Given the description of an element on the screen output the (x, y) to click on. 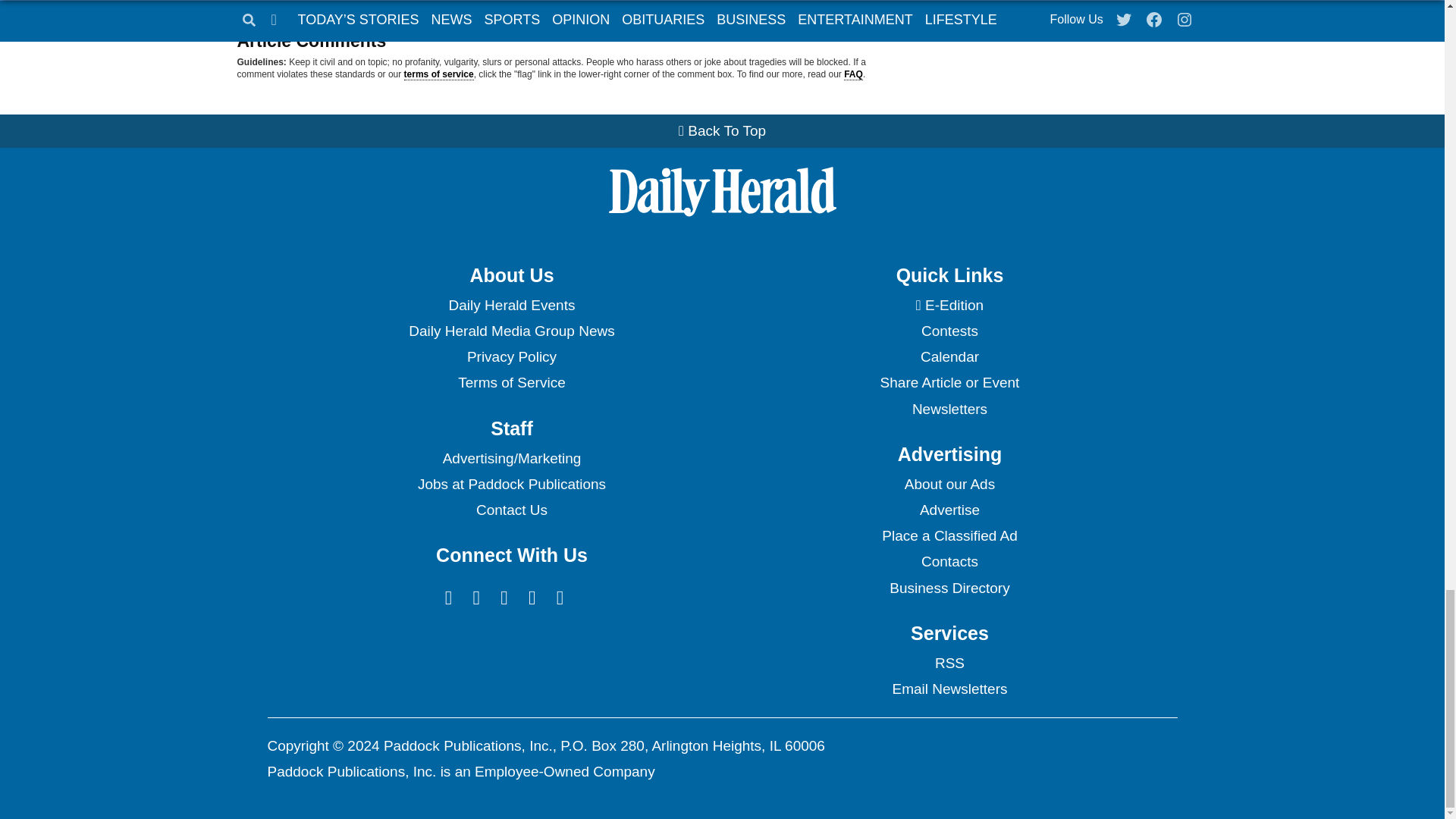
Daily Herald Media Group News (511, 330)
Contact Us (511, 510)
Daily Herald Digital Newspaper (949, 305)
Daily Herald Events (511, 305)
Jobs at Paddock Publications (511, 484)
Contests (949, 330)
Terms of Service (511, 382)
Privacy Policy (511, 356)
